Given the description of an element on the screen output the (x, y) to click on. 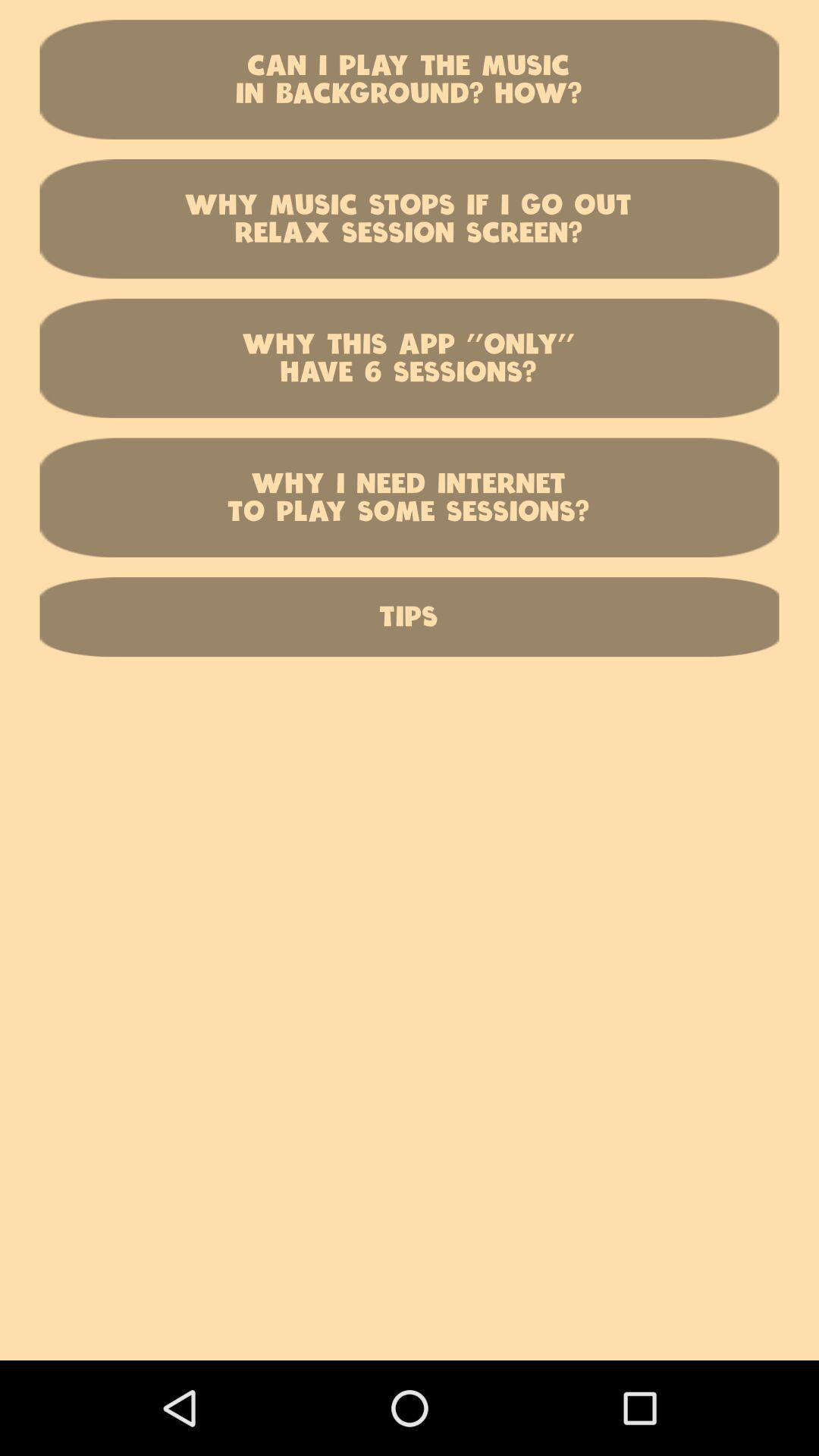
select the button above the why i need item (409, 358)
